Given the description of an element on the screen output the (x, y) to click on. 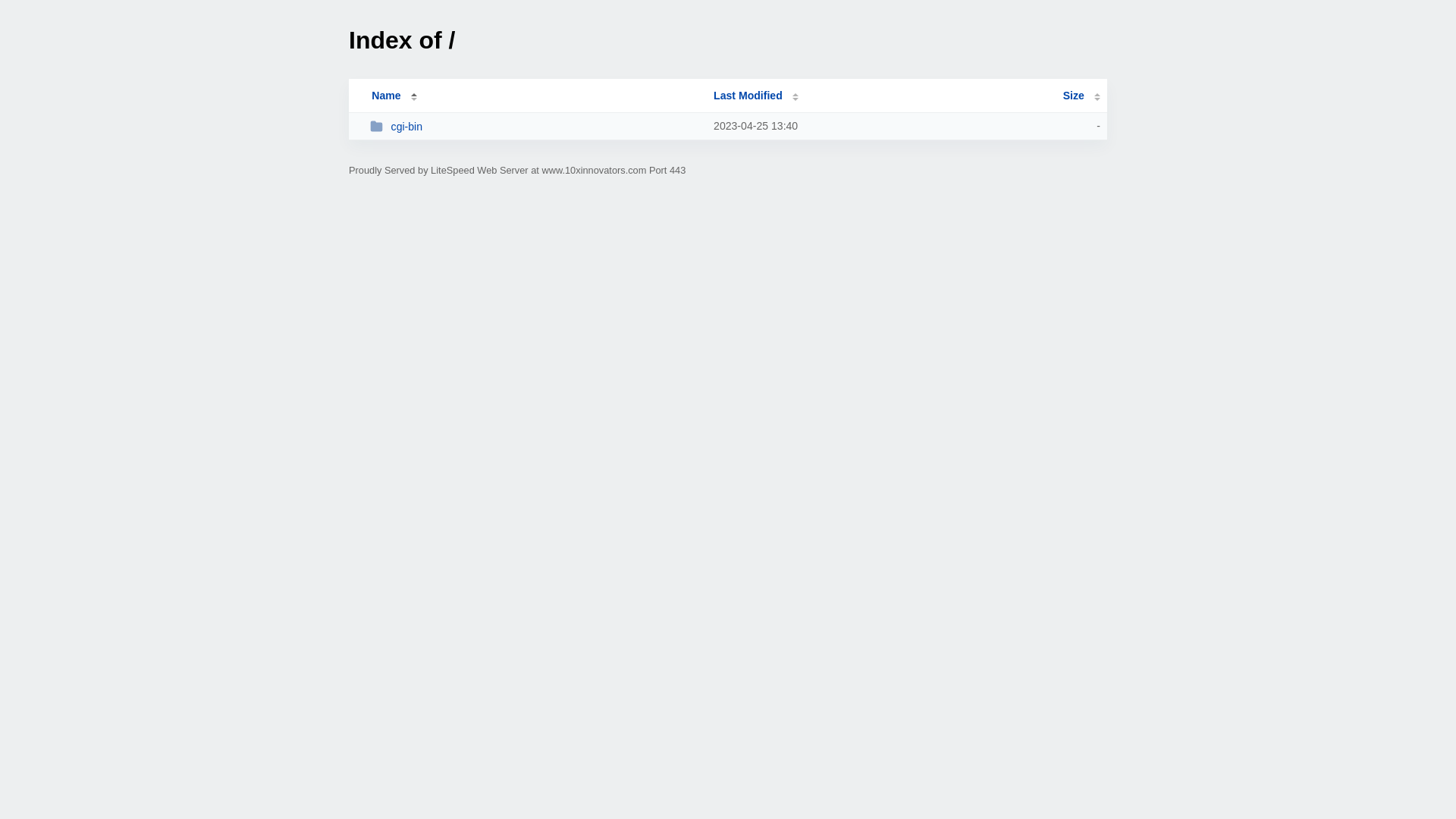
cgi-bin Element type: text (534, 125)
Size Element type: text (1081, 95)
Last Modified Element type: text (755, 95)
Name Element type: text (385, 95)
